Given the description of an element on the screen output the (x, y) to click on. 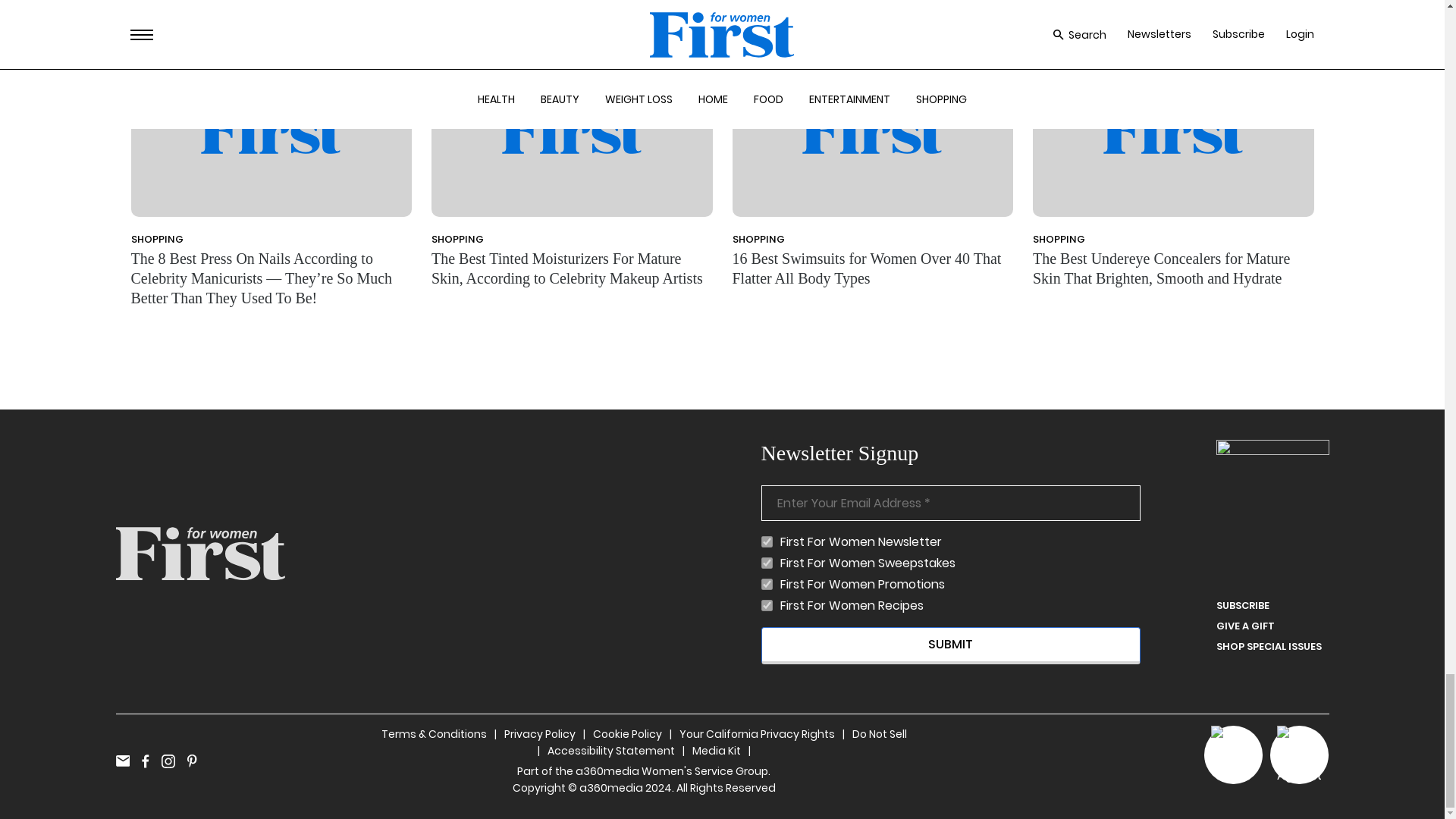
1 (767, 562)
1 (767, 583)
1 (767, 541)
1 (767, 604)
